Given the description of an element on the screen output the (x, y) to click on. 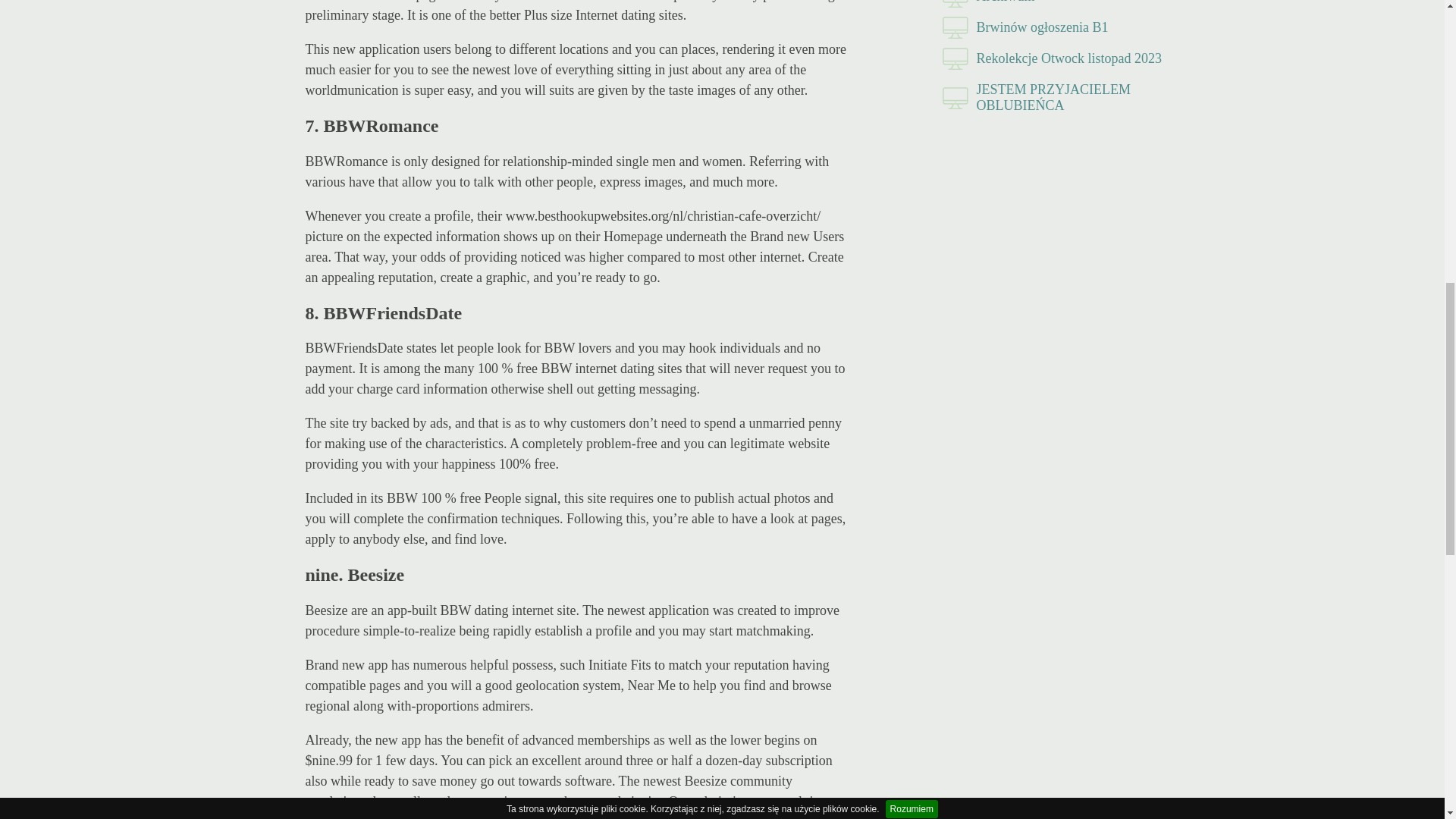
Archiwum (1055, 6)
Rekolekcje Otwock listopad 2023 (1055, 58)
